Given the description of an element on the screen output the (x, y) to click on. 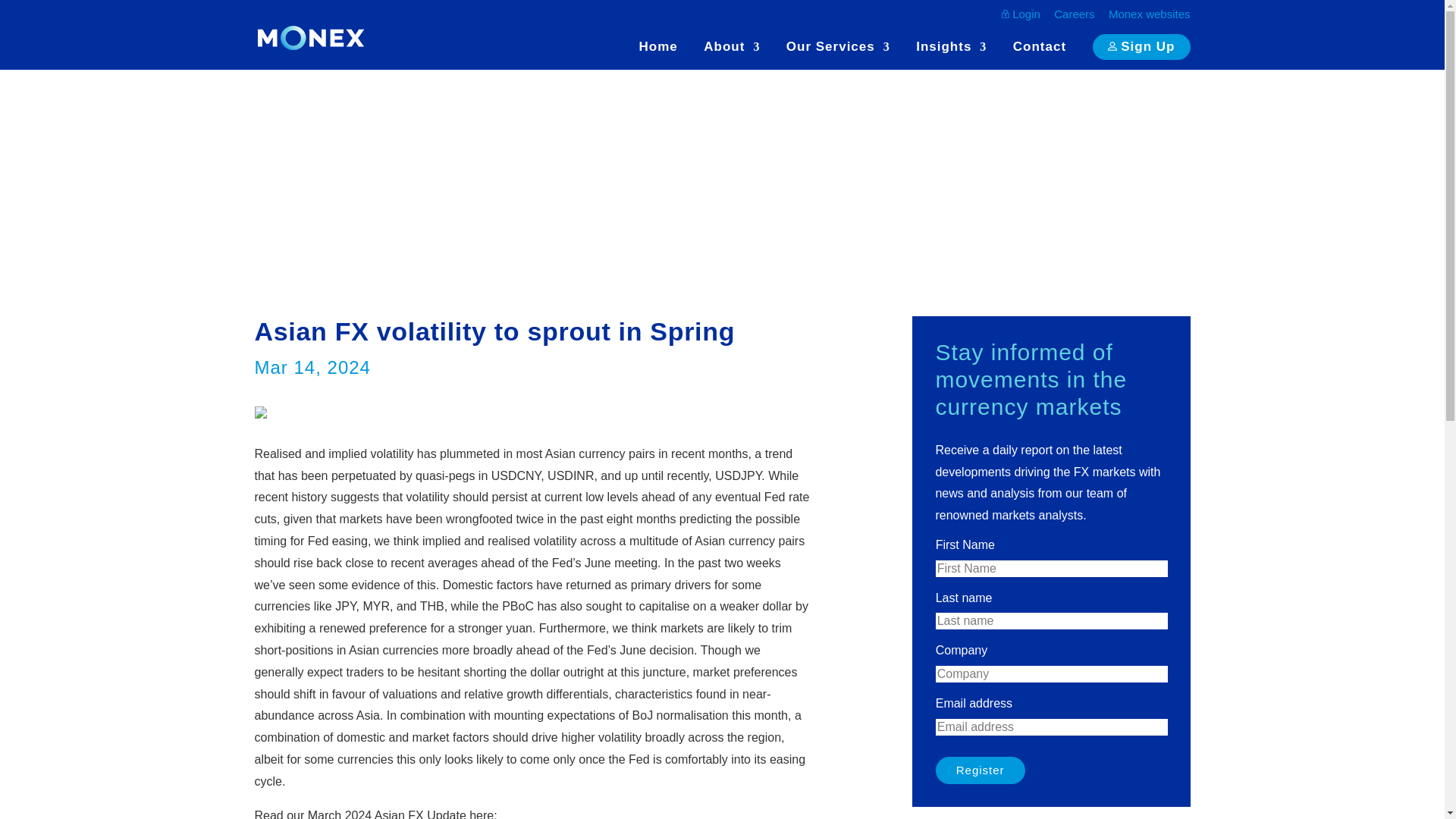
Only letters allowed. (1051, 568)
Login (1021, 19)
Register (980, 769)
About (731, 54)
Sign Up (1142, 45)
Insights (951, 54)
Only letters allowed. (1051, 620)
Home (658, 54)
Careers (1074, 17)
Monex websites (1149, 17)
Our Services (837, 54)
Contact (1039, 54)
